Given the description of an element on the screen output the (x, y) to click on. 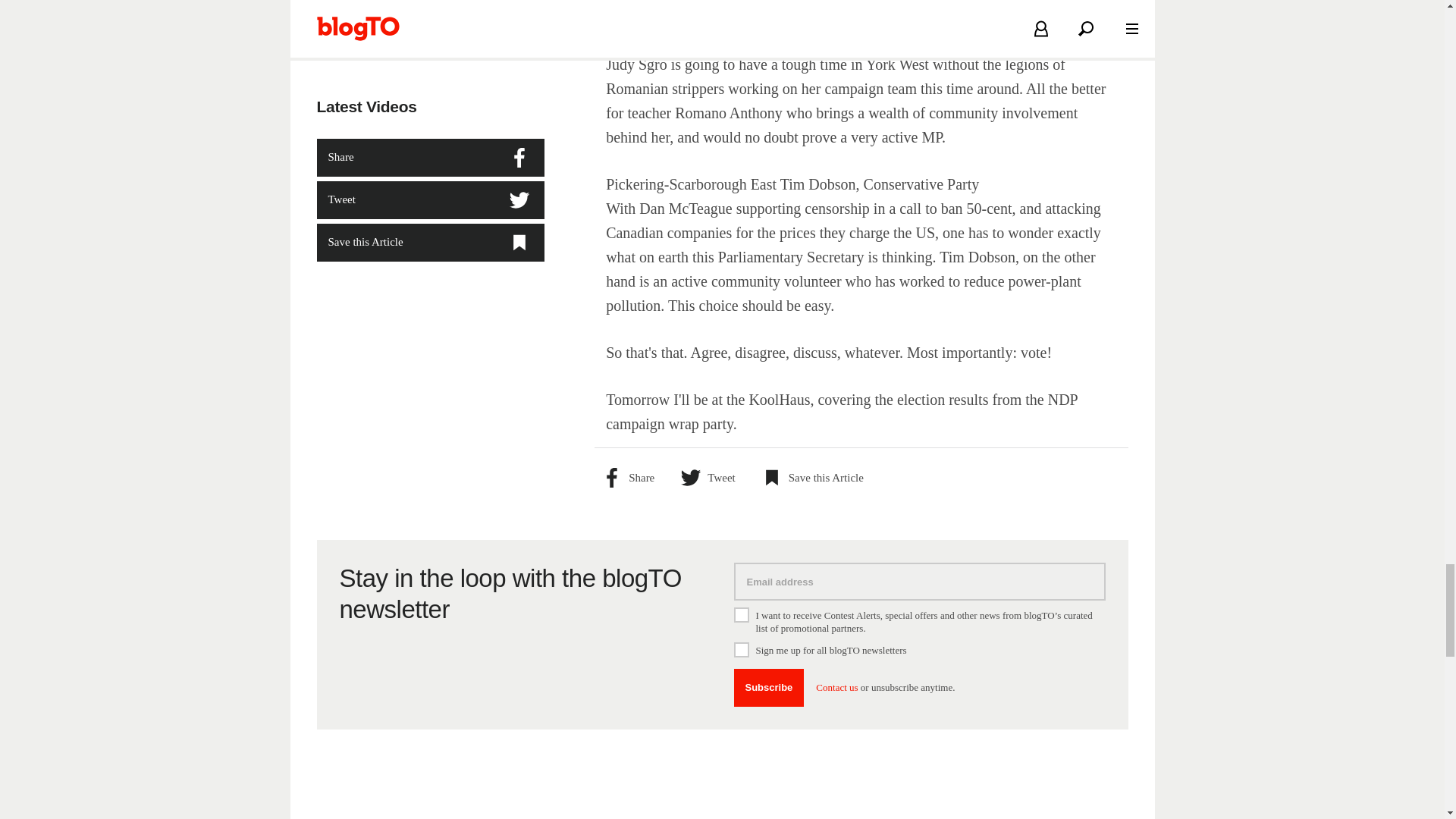
Subscribe (769, 687)
